Given the description of an element on the screen output the (x, y) to click on. 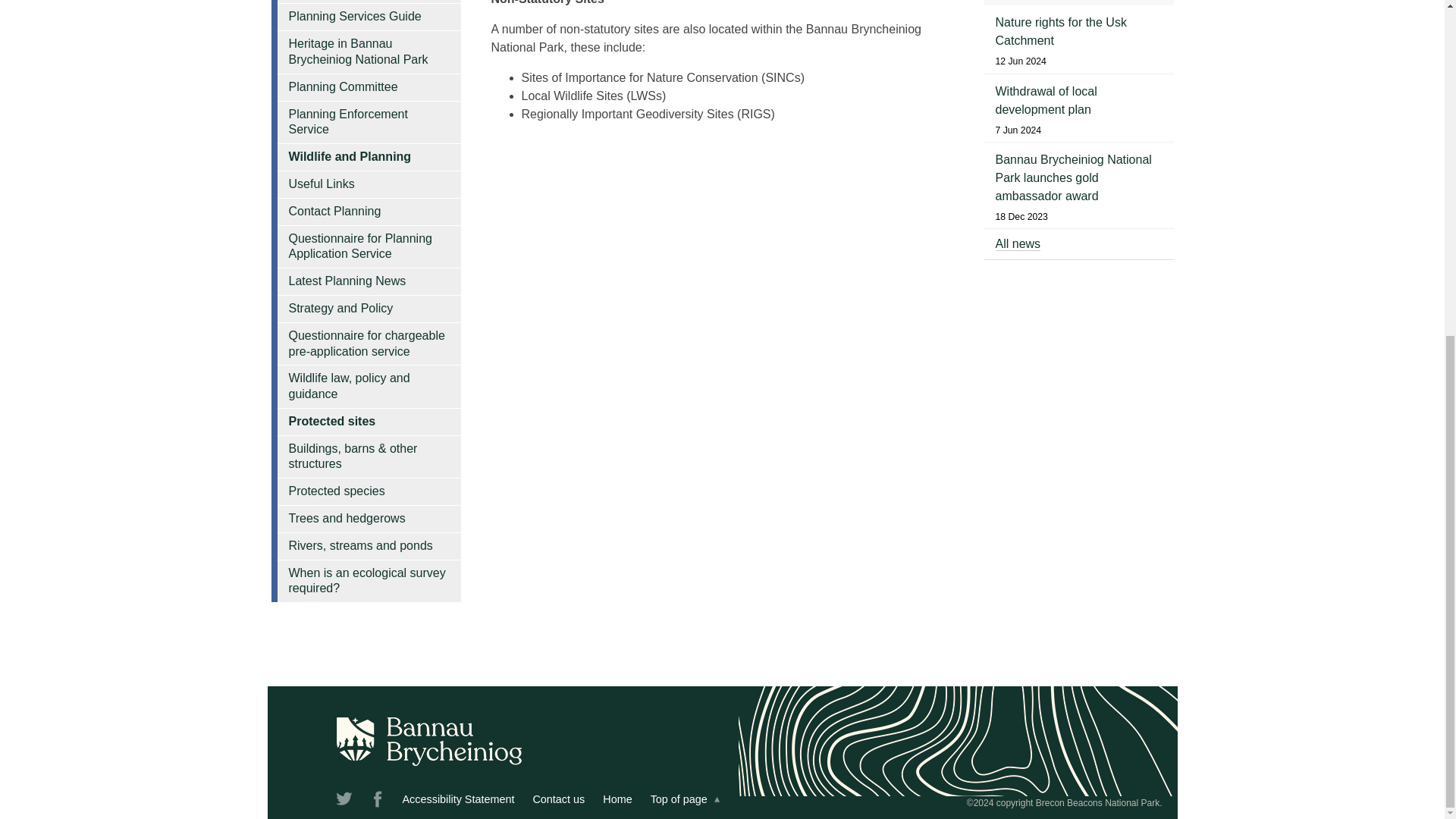
Brecon Beacons National Park homepage (616, 799)
Get our updates on Facebook (378, 801)
Follow us on Twitter (344, 801)
